Given the description of an element on the screen output the (x, y) to click on. 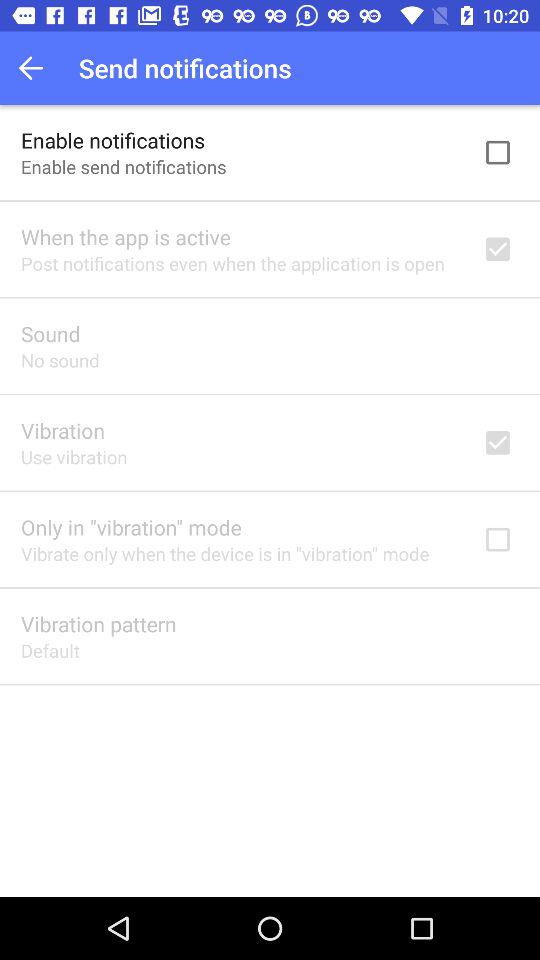
press the app above vibration pattern item (225, 553)
